Given the description of an element on the screen output the (x, y) to click on. 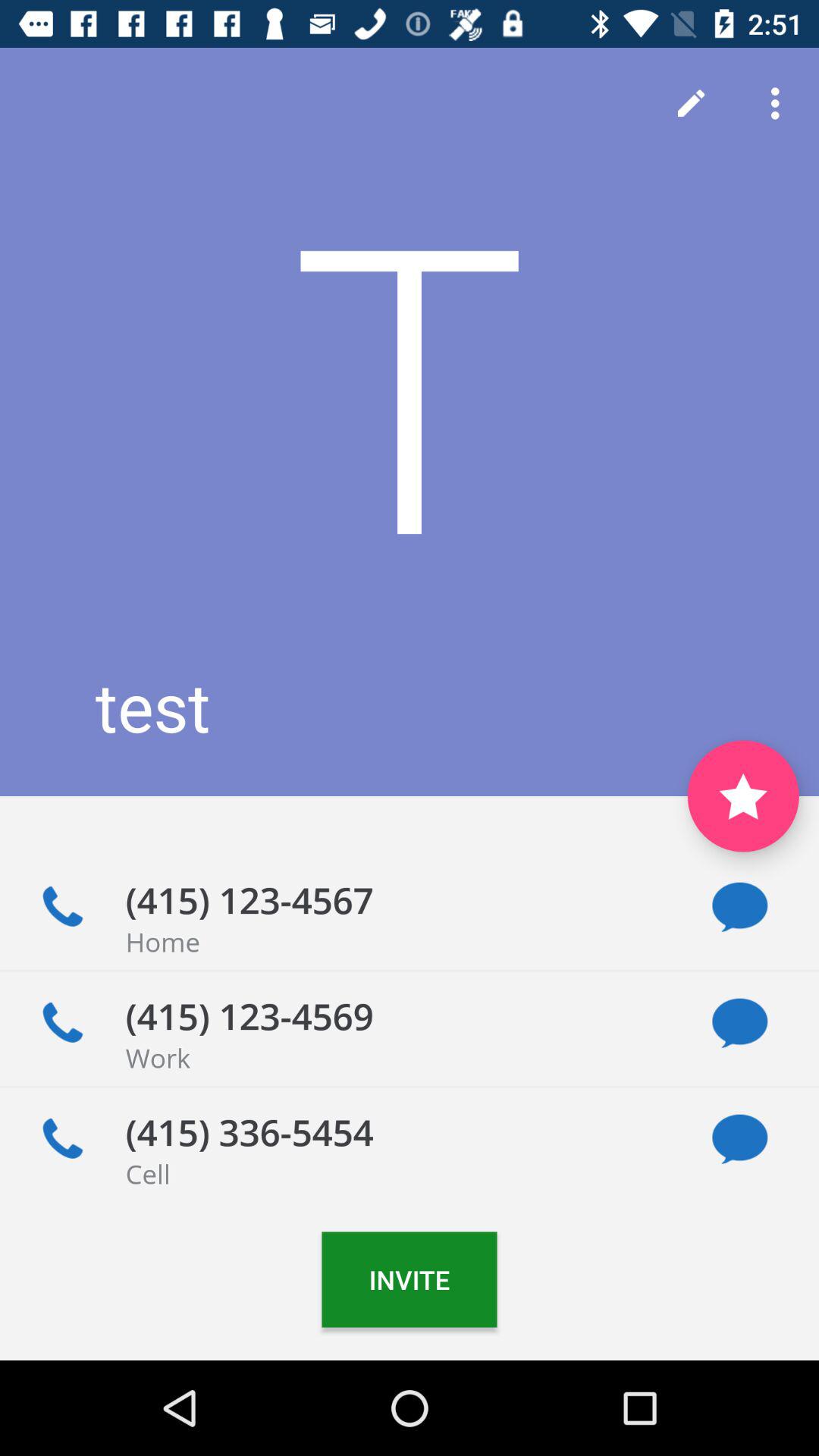
click to message (739, 1023)
